Given the description of an element on the screen output the (x, y) to click on. 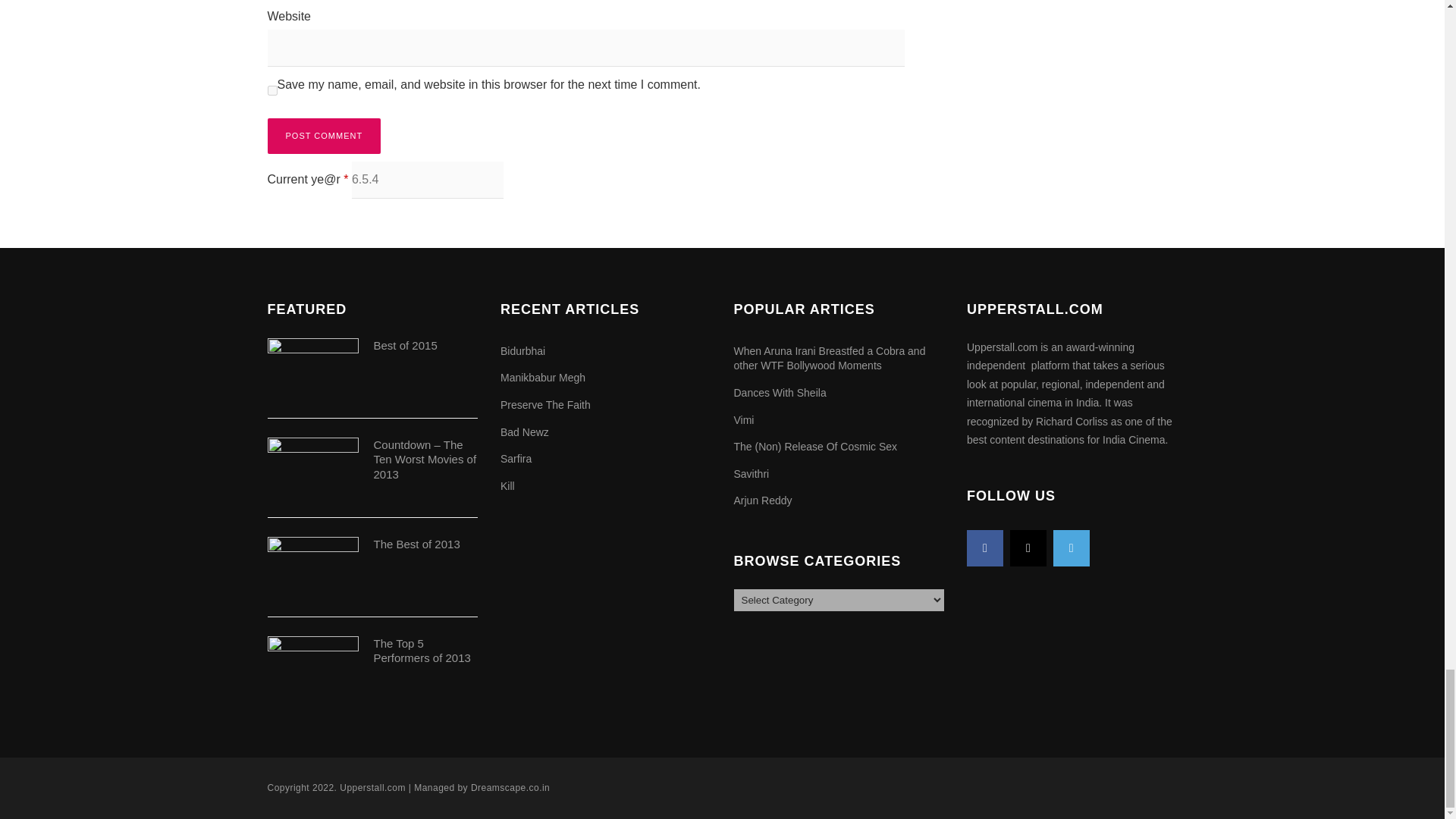
Post Comment (323, 135)
yes (271, 90)
View Best of 2015 (404, 345)
6.5.4 (427, 180)
View The Best of 2013 (416, 543)
View The Top 5 Performers of 2013 (421, 651)
